Given the description of an element on the screen output the (x, y) to click on. 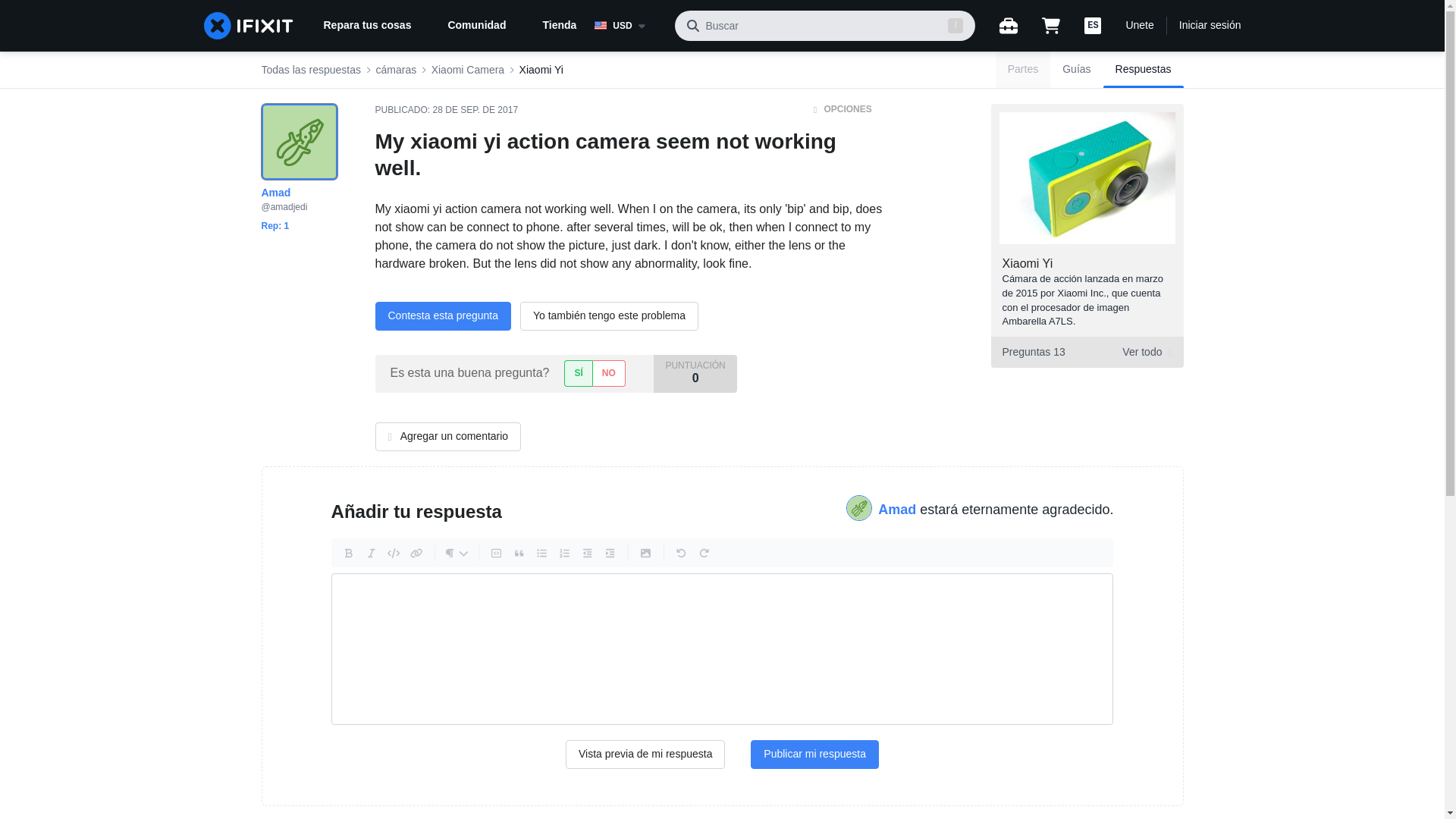
Xiaomi Yi (1027, 263)
Todas las respuestas (310, 69)
PUBLICADO: 28 DE SEP. DE 2017 (446, 109)
USD (628, 25)
Xiaomi Camera (466, 69)
Respuestas (1143, 69)
Xiaomi Yi (541, 69)
Contesta esta pregunta (442, 316)
Unete (1139, 25)
